Given the description of an element on the screen output the (x, y) to click on. 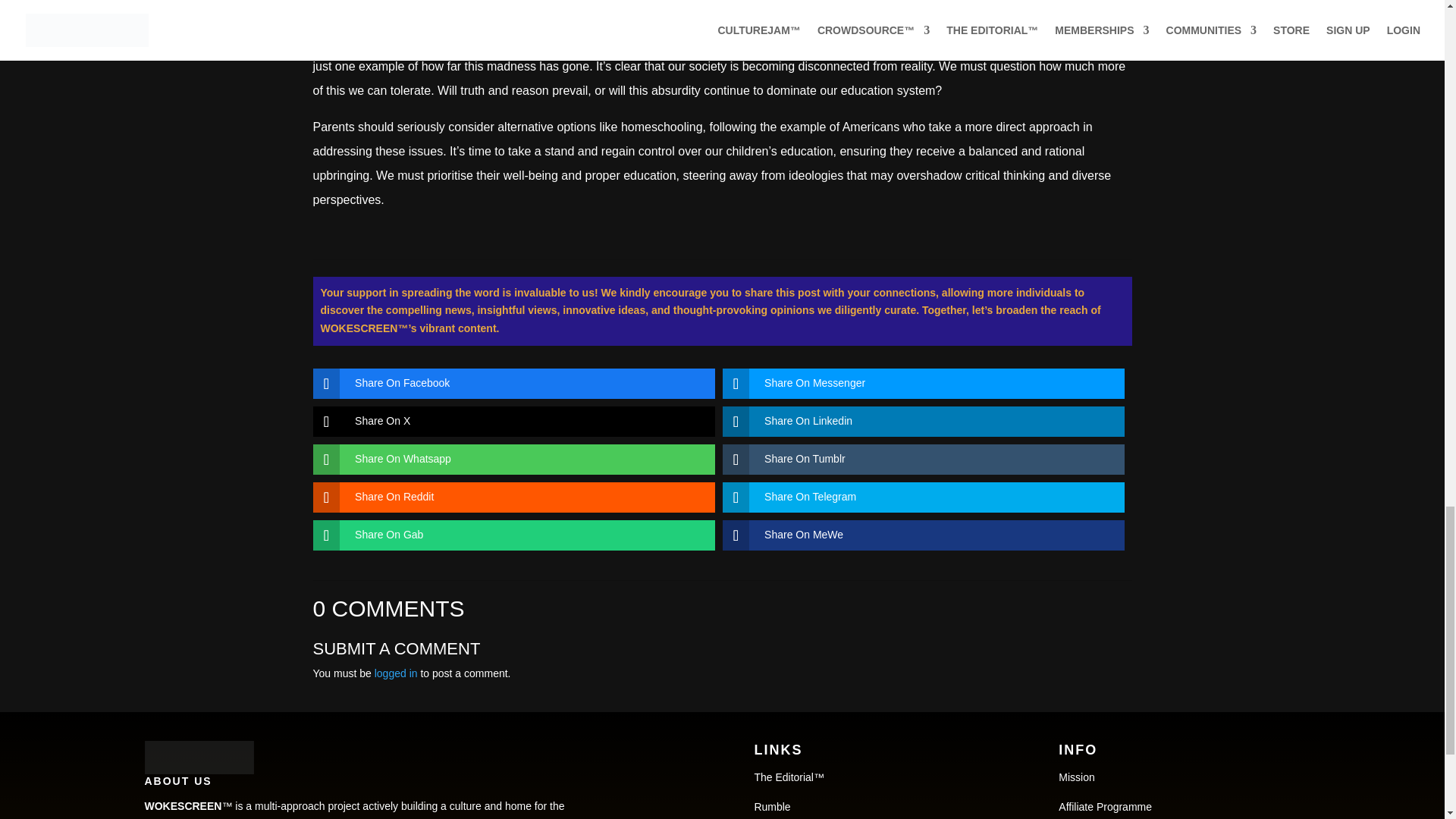
logged in (395, 673)
Share On Telegram (911, 497)
Share On Linkedin (911, 421)
Share On Whatsapp (502, 459)
Mission (1076, 776)
Share On Facebook (502, 383)
Rumble (772, 806)
Share On Gab (502, 535)
Share On MeWe (911, 535)
Share On Tumblr (911, 459)
